Given the description of an element on the screen output the (x, y) to click on. 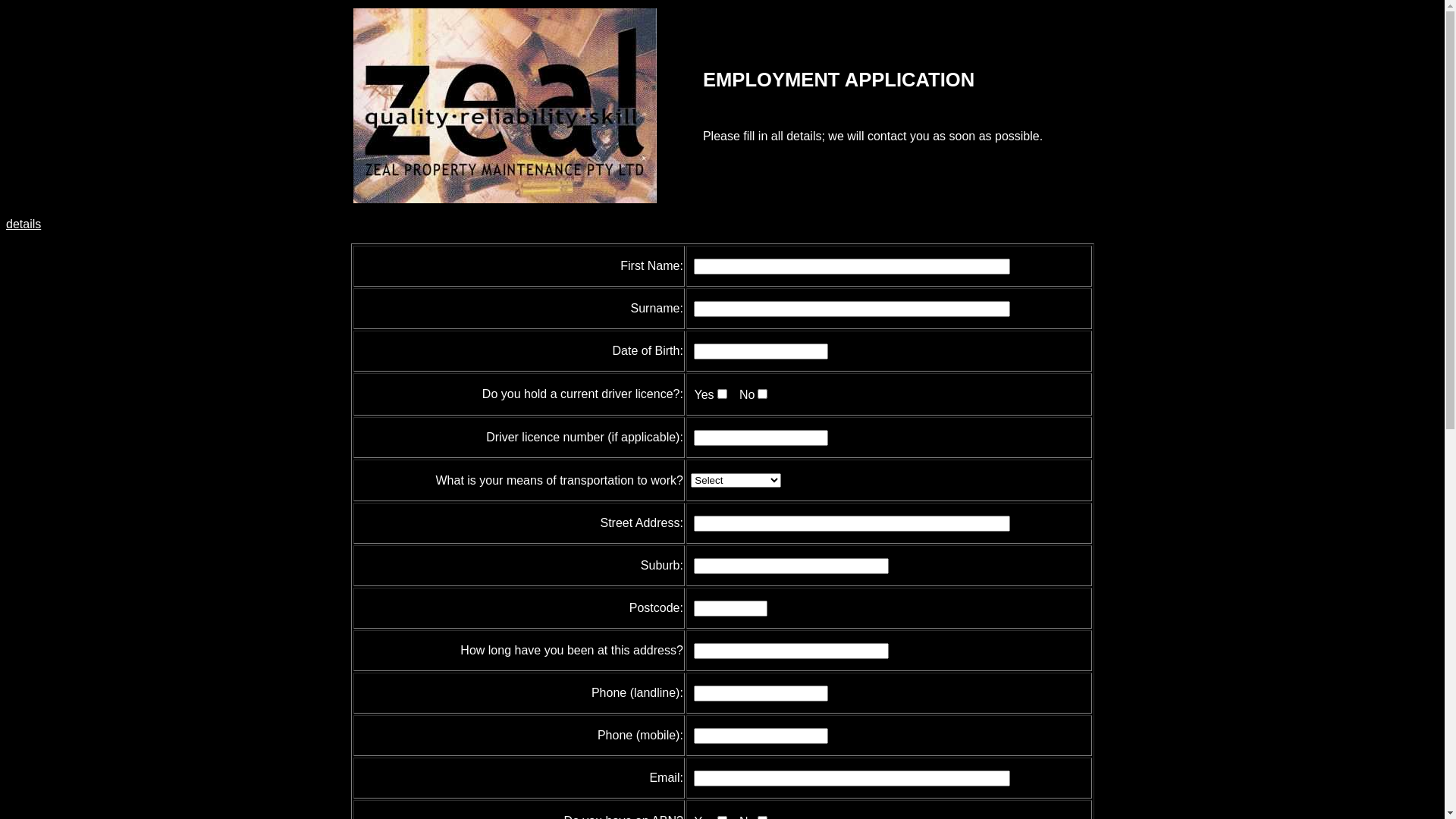
details Element type: text (23, 223)
